Given the description of an element on the screen output the (x, y) to click on. 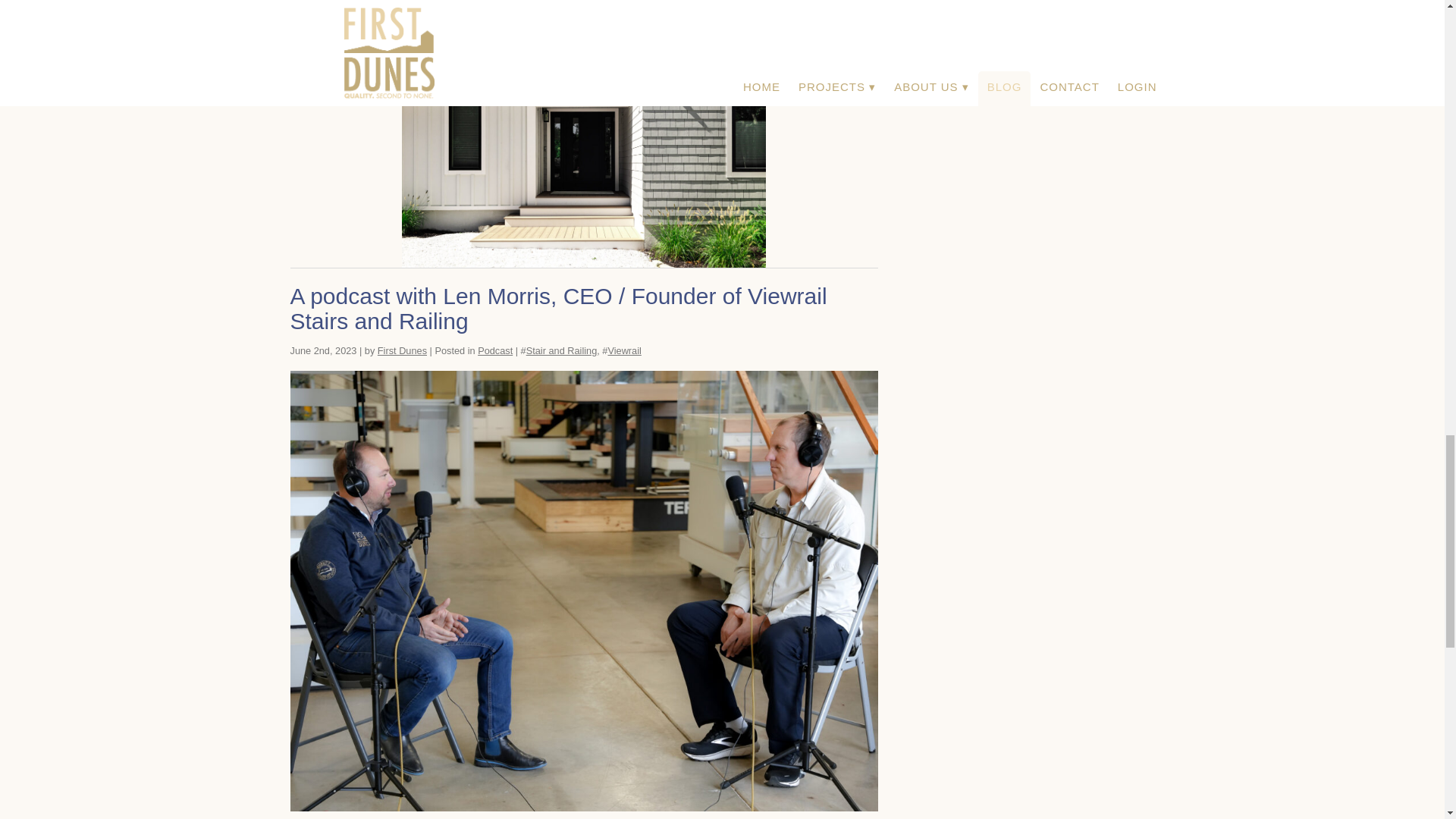
Viewrail (623, 350)
First Dunes (401, 350)
Podcast (494, 350)
Stair and Railing (560, 350)
